Given the description of an element on the screen output the (x, y) to click on. 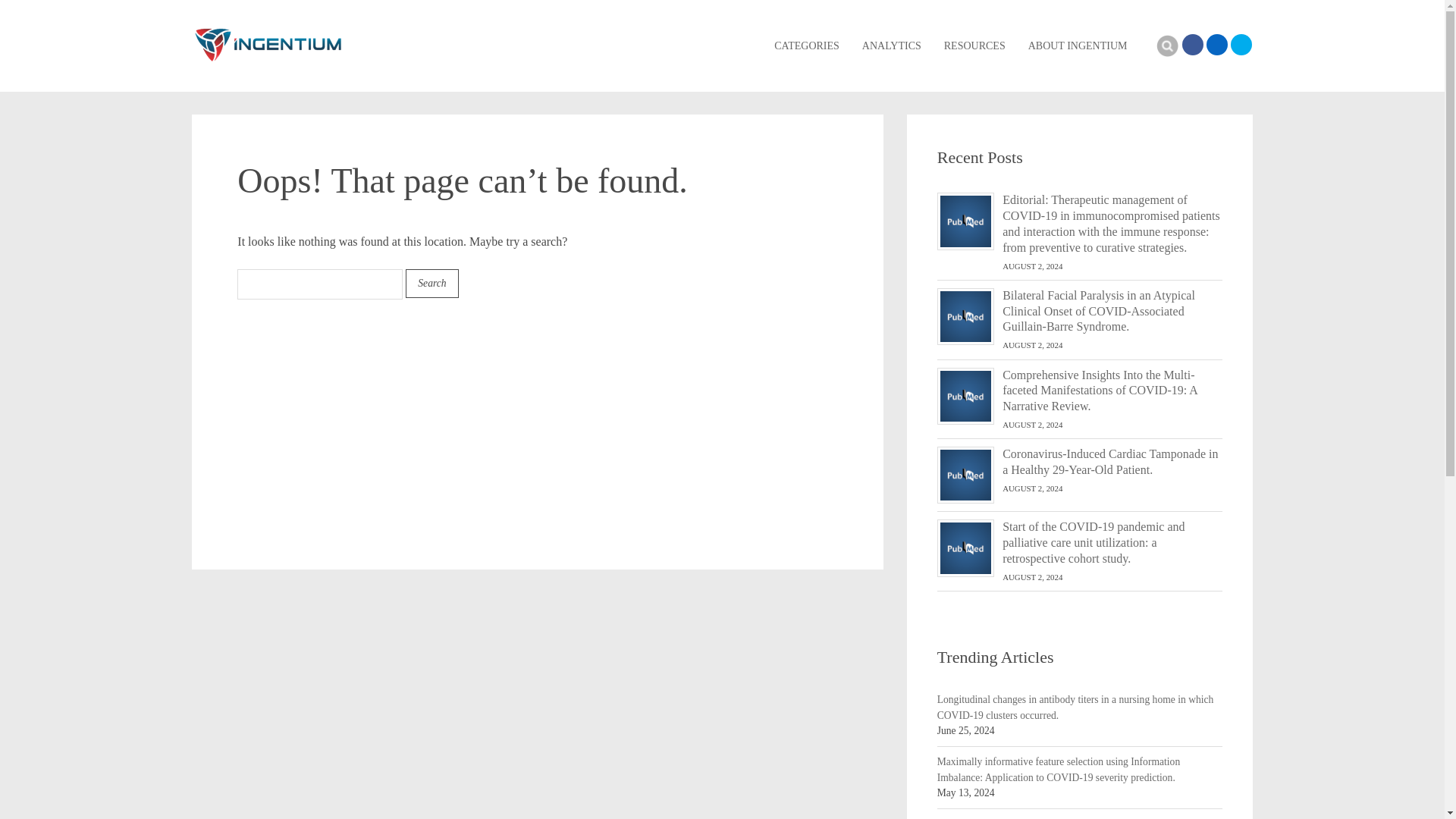
Search (1166, 45)
ABOUT INGENTIUM (1076, 46)
Facebook (1191, 44)
Twitter (1240, 44)
